Given the description of an element on the screen output the (x, y) to click on. 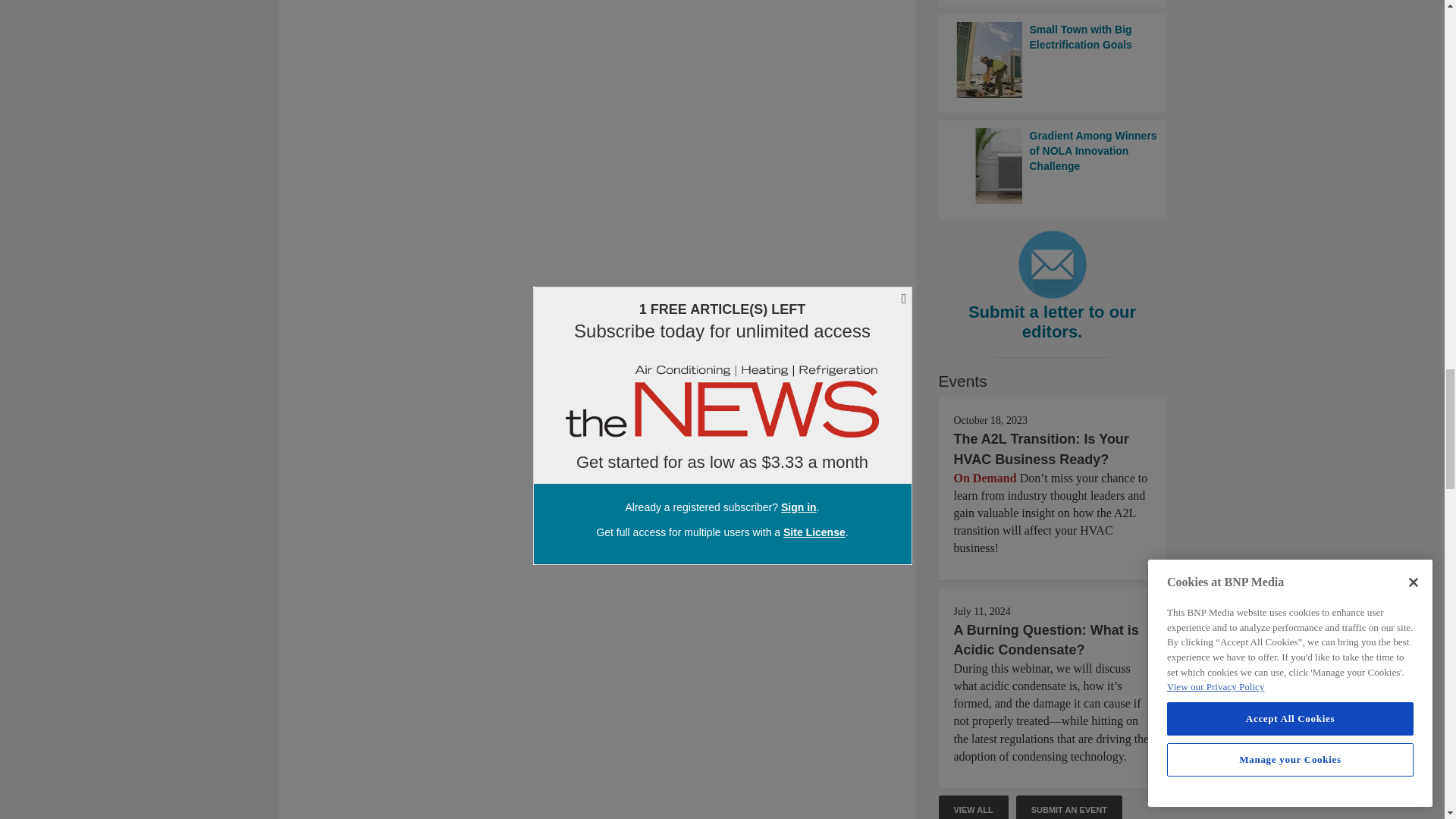
The A2L Transition: Is Your HVAC Business Ready? (1041, 448)
Gradient Among Winners of NOLA Innovation Challenge (1052, 165)
Small Town with Big Electrification Goals (1052, 59)
